Given the description of an element on the screen output the (x, y) to click on. 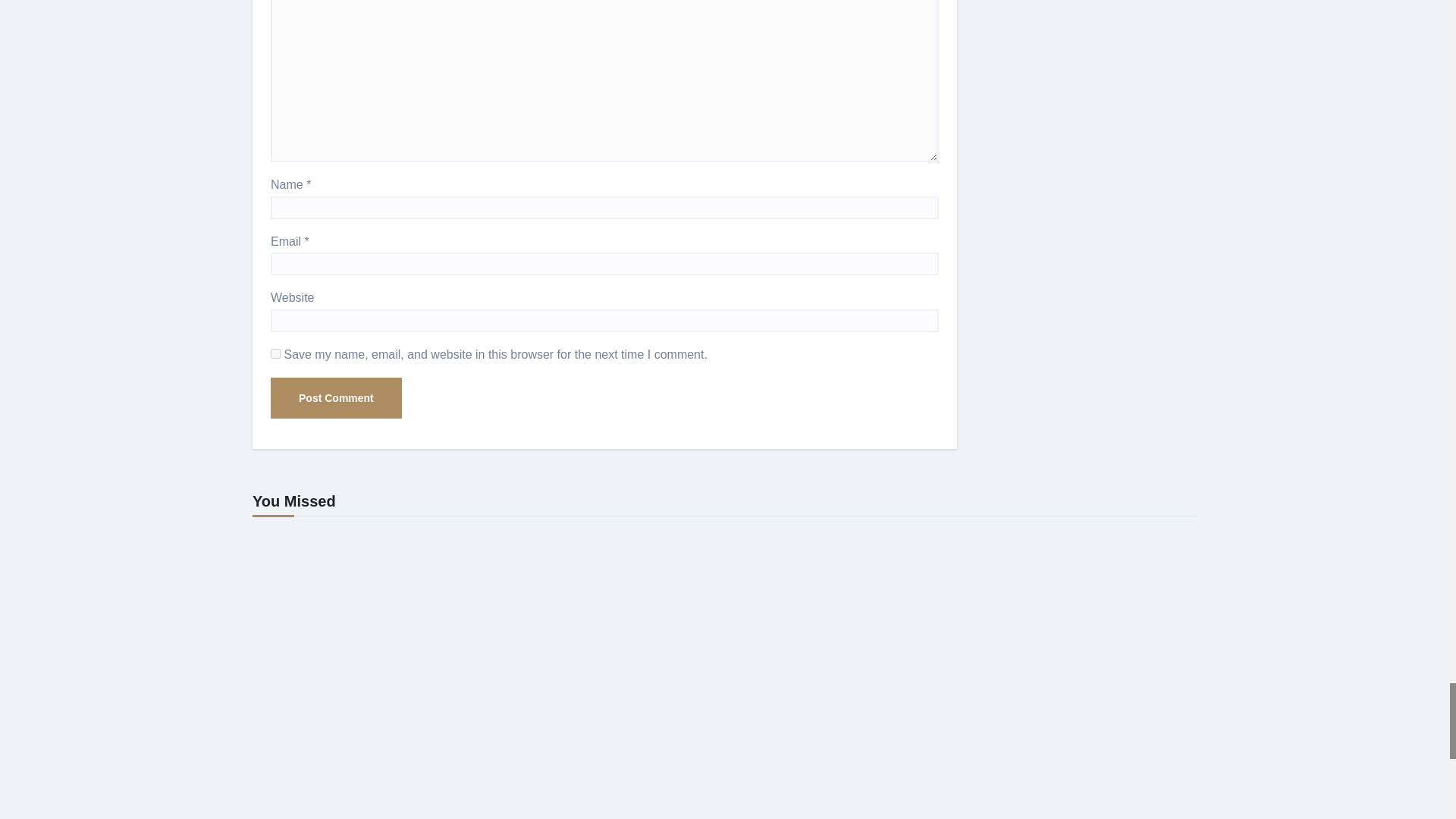
Post Comment (335, 397)
yes (275, 353)
